Given the description of an element on the screen output the (x, y) to click on. 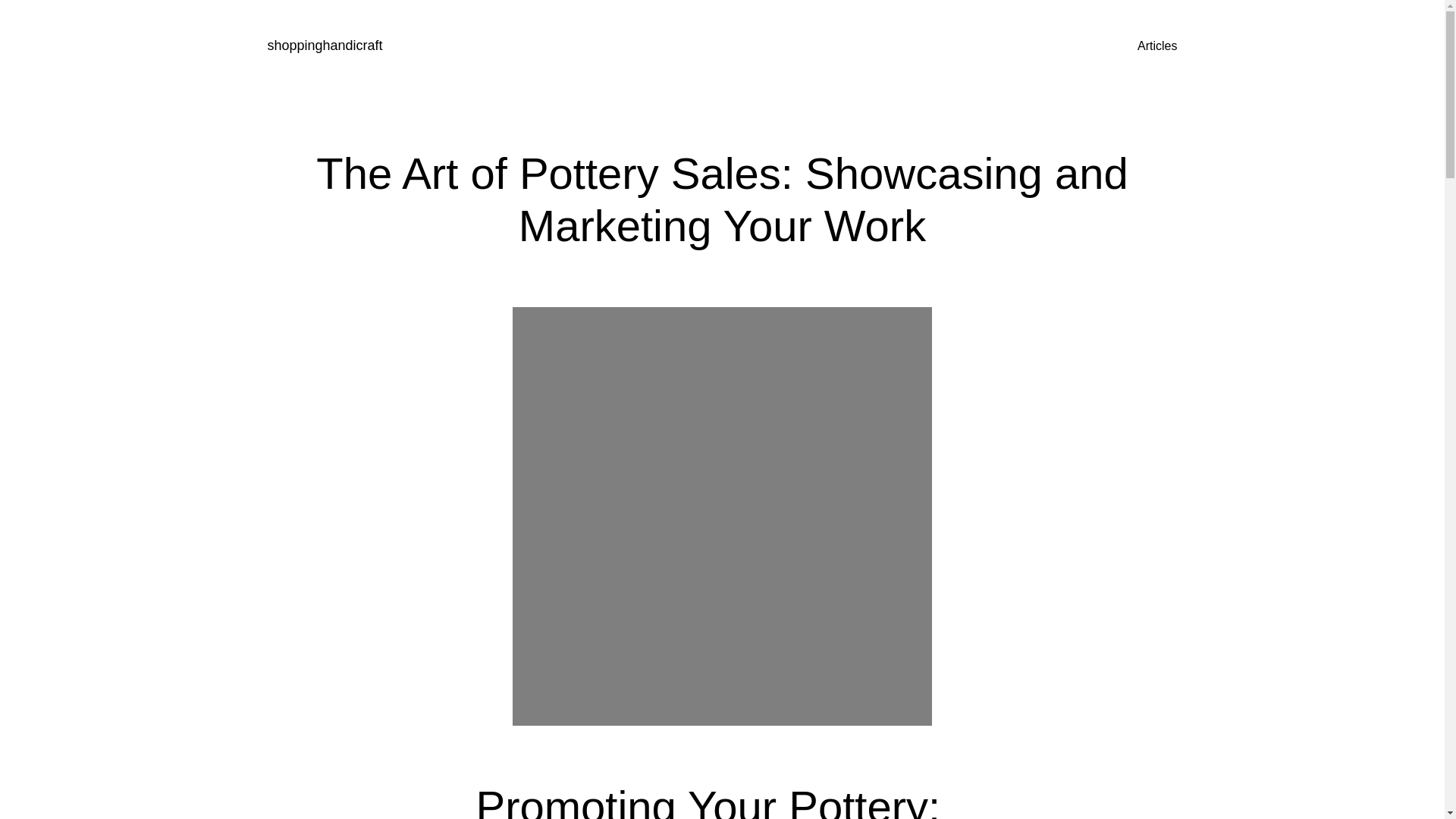
Articles (1156, 46)
shoppinghandicraft (323, 45)
